Given the description of an element on the screen output the (x, y) to click on. 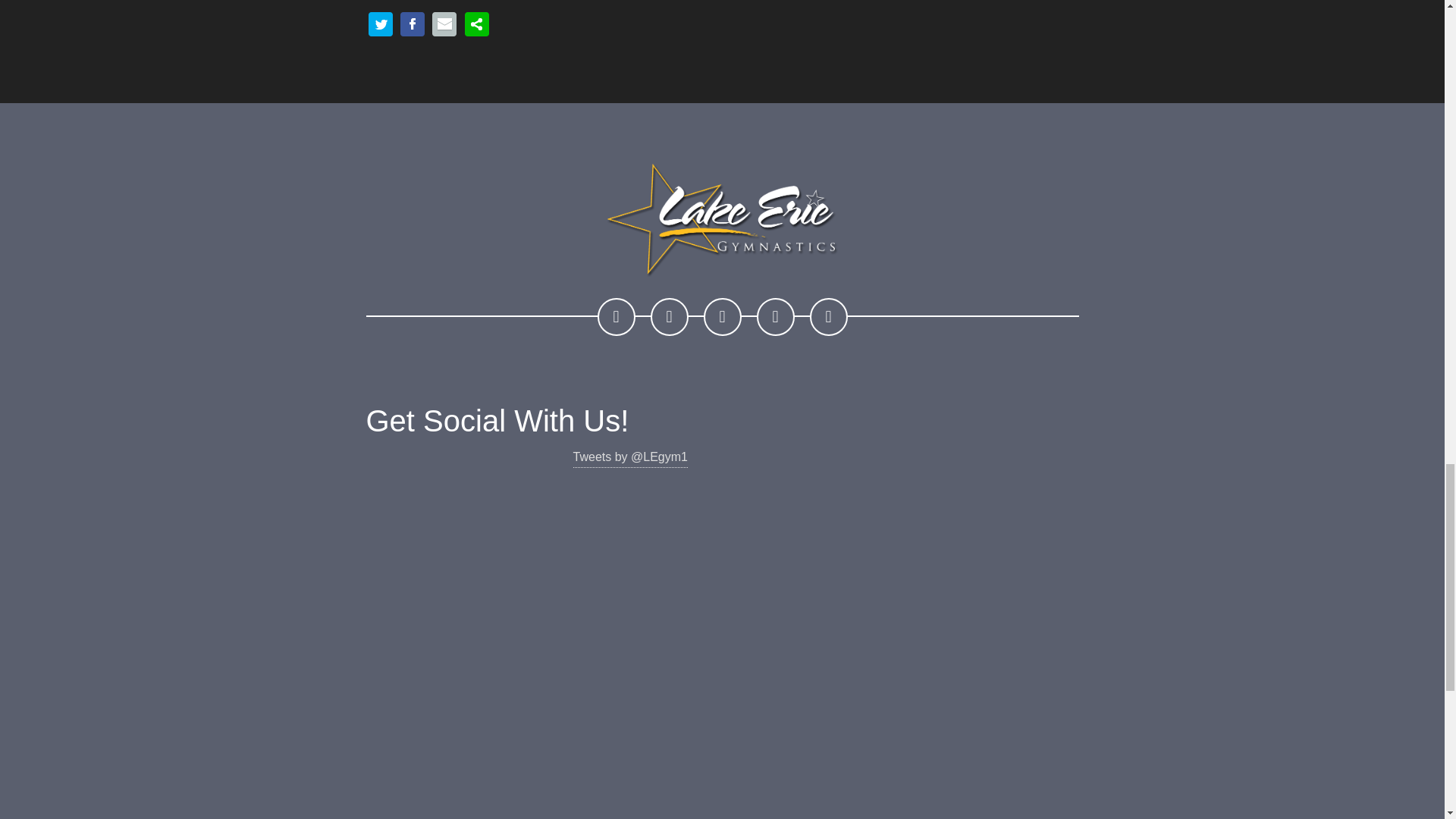
Pay your tuition online! (775, 316)
Get driving directions with Google Maps! (669, 316)
Go to our home page (828, 316)
Email us! (722, 316)
View our contact information! (615, 316)
